Given the description of an element on the screen output the (x, y) to click on. 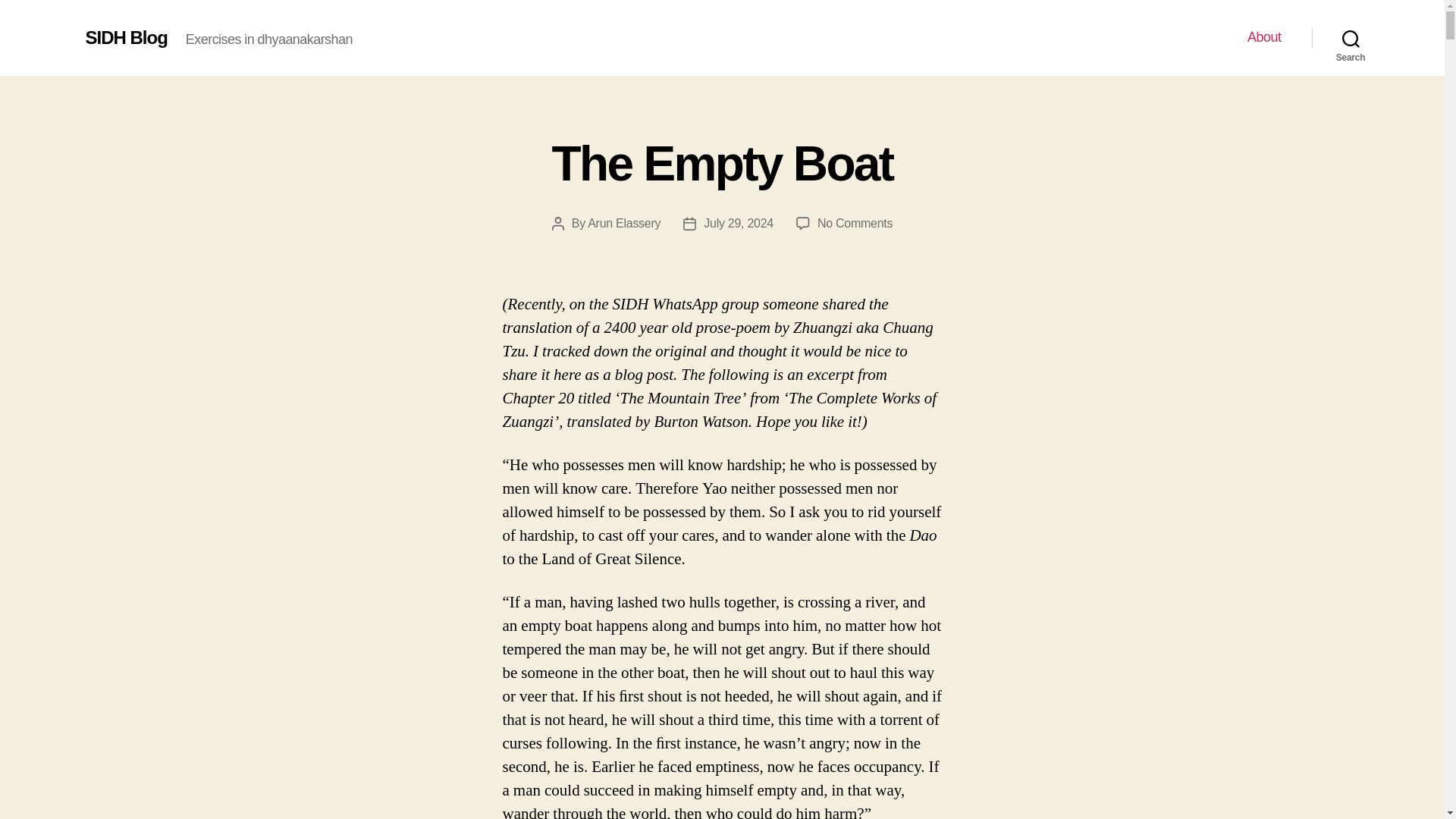
The Empty Boat (854, 223)
SIDH Blog (722, 163)
Search (125, 37)
Arun Elassery (1350, 37)
July 29, 2024 (624, 223)
About (738, 223)
